Given the description of an element on the screen output the (x, y) to click on. 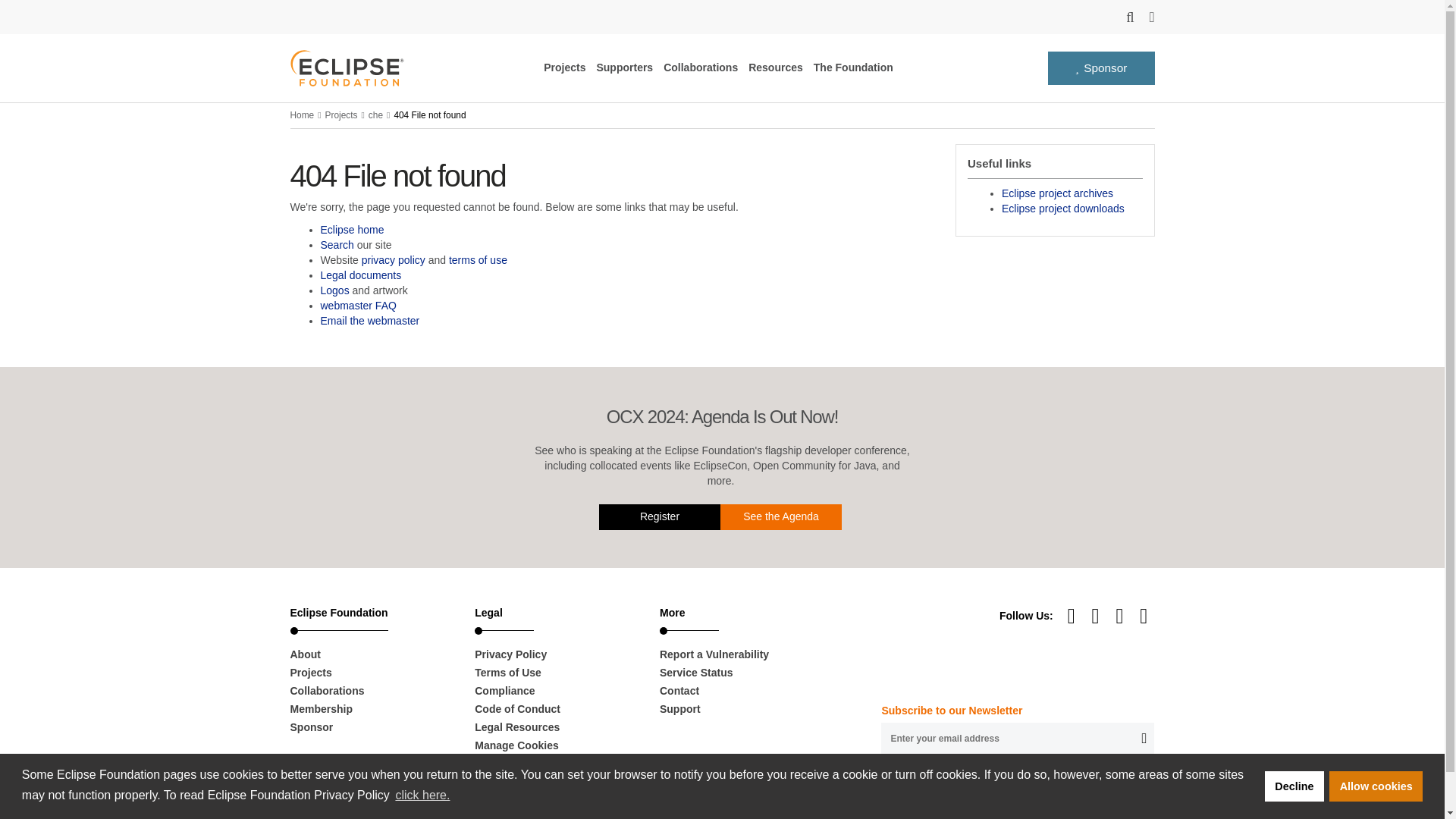
Twitter (1143, 615)
YouTube Channel (1072, 615)
LinkedIn (1096, 615)
Projects (563, 67)
Allow cookies (1375, 786)
Resources (775, 67)
Collaborations (700, 67)
click here. (422, 794)
Decline (1294, 786)
The Foundation (853, 67)
